Given the description of an element on the screen output the (x, y) to click on. 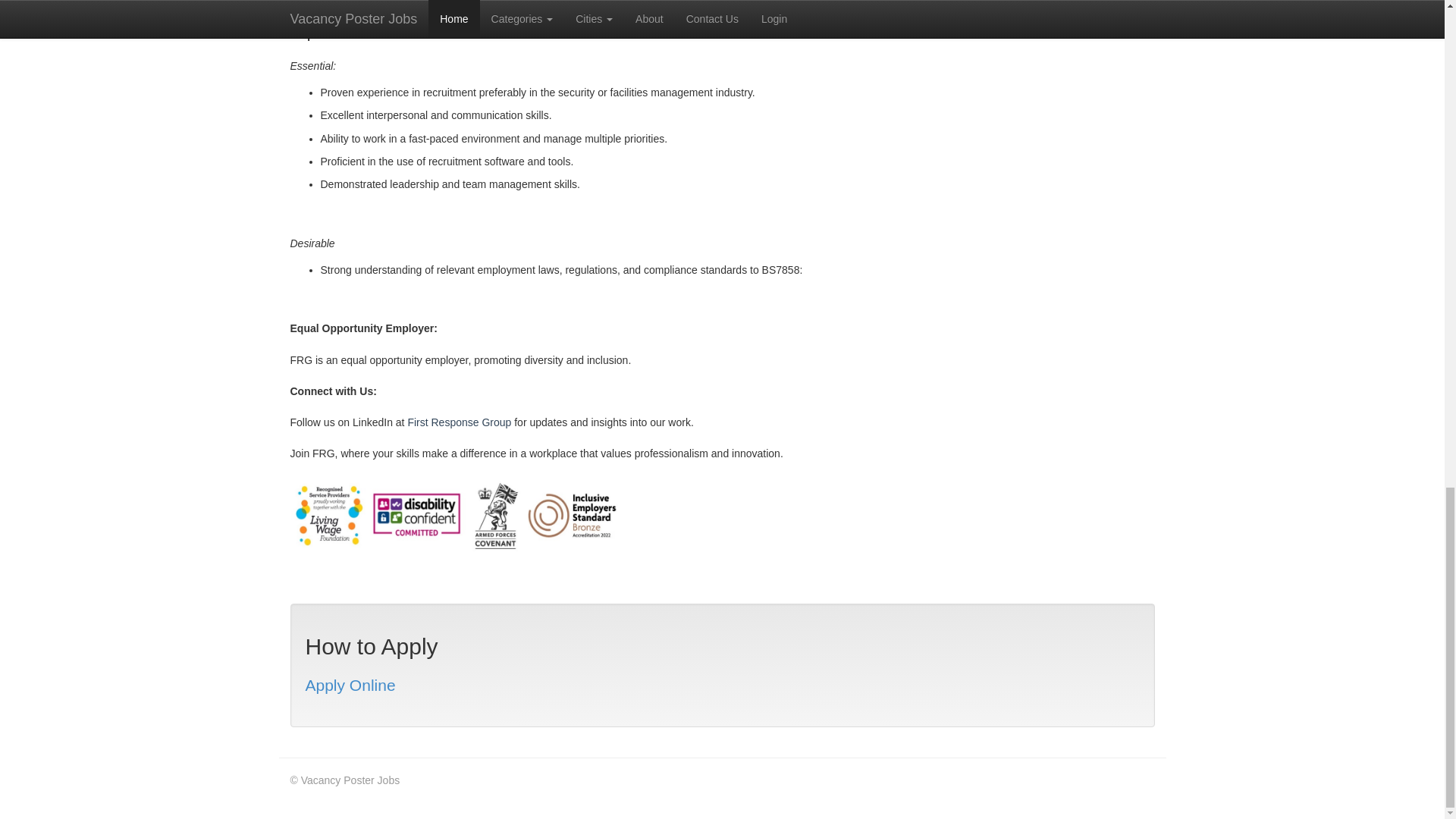
First Response Group (459, 422)
